Given the description of an element on the screen output the (x, y) to click on. 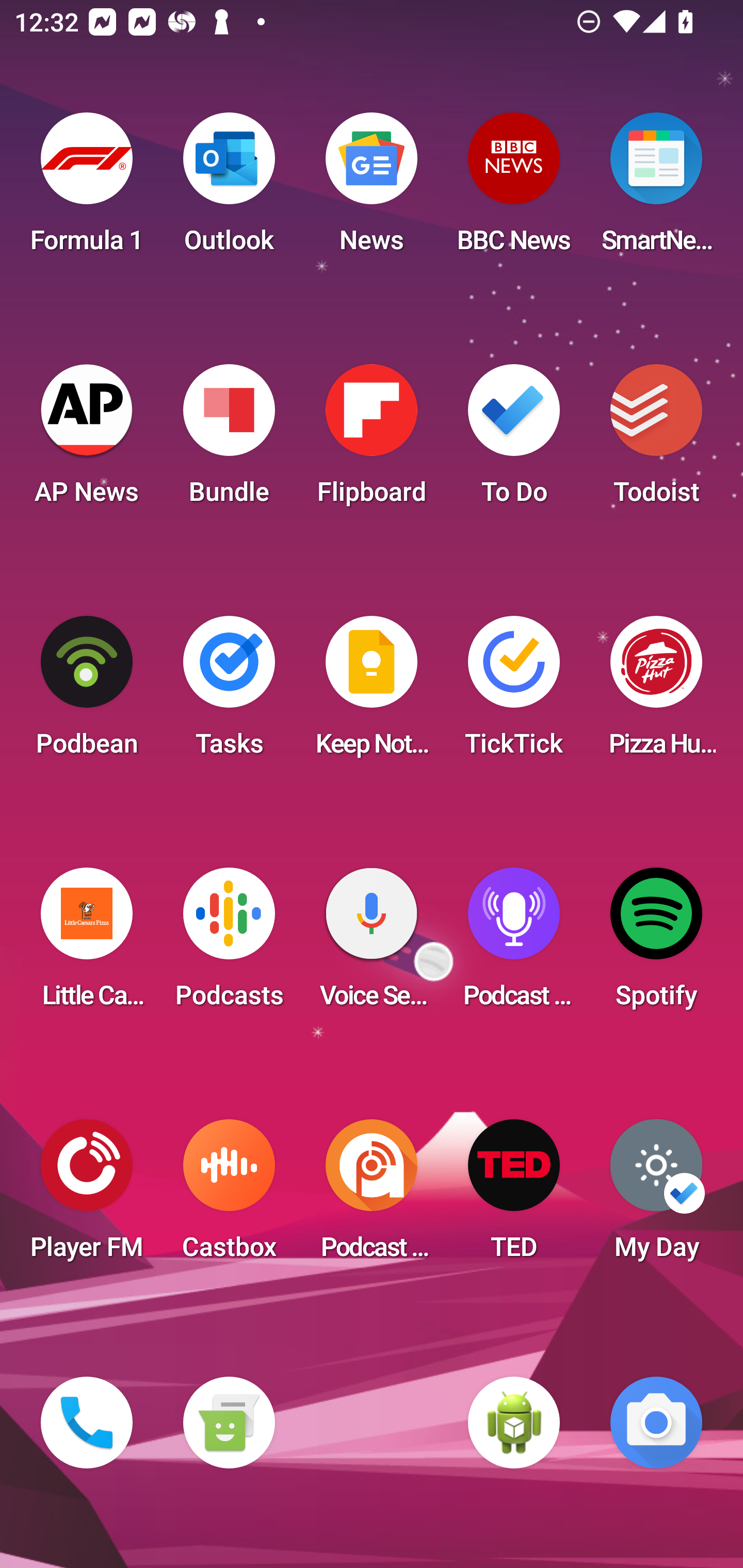
Formula 1 (86, 188)
Outlook (228, 188)
News (371, 188)
BBC News (513, 188)
SmartNews (656, 188)
AP News (86, 440)
Bundle (228, 440)
Flipboard (371, 440)
To Do (513, 440)
Todoist (656, 440)
Podbean (86, 692)
Tasks (228, 692)
Keep Notes (371, 692)
TickTick (513, 692)
Pizza Hut HK & Macau (656, 692)
Little Caesars Pizza (86, 943)
Podcasts (228, 943)
Voice Search (371, 943)
Podcast Player (513, 943)
Spotify (656, 943)
Player FM (86, 1195)
Castbox (228, 1195)
Podcast Addict (371, 1195)
TED (513, 1195)
My Day (656, 1195)
Phone (86, 1422)
Messaging (228, 1422)
WebView Browser Tester (513, 1422)
Camera (656, 1422)
